Given the description of an element on the screen output the (x, y) to click on. 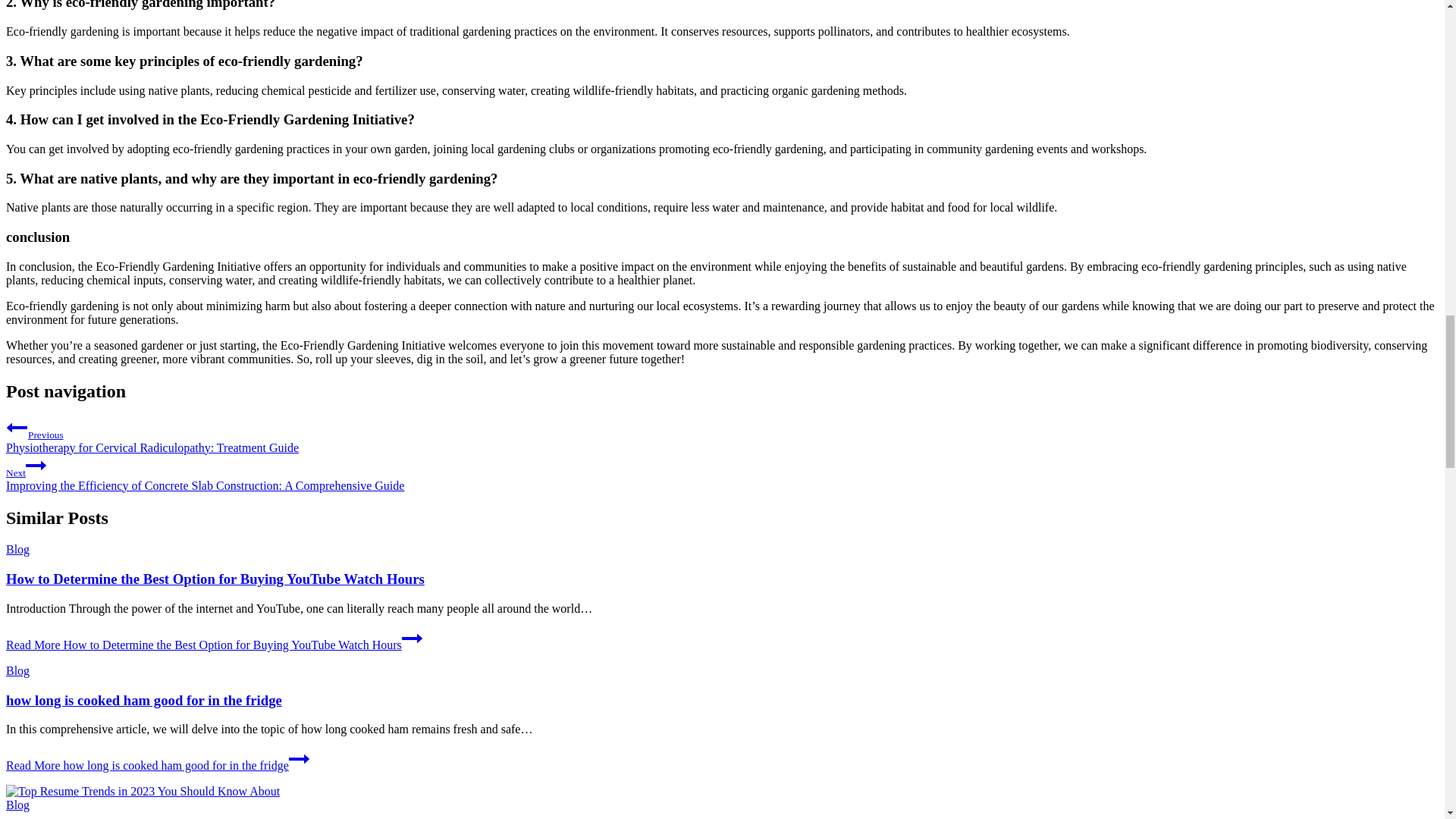
Continue (36, 465)
Continue (411, 638)
Continue (298, 758)
Previous (16, 427)
